Given the description of an element on the screen output the (x, y) to click on. 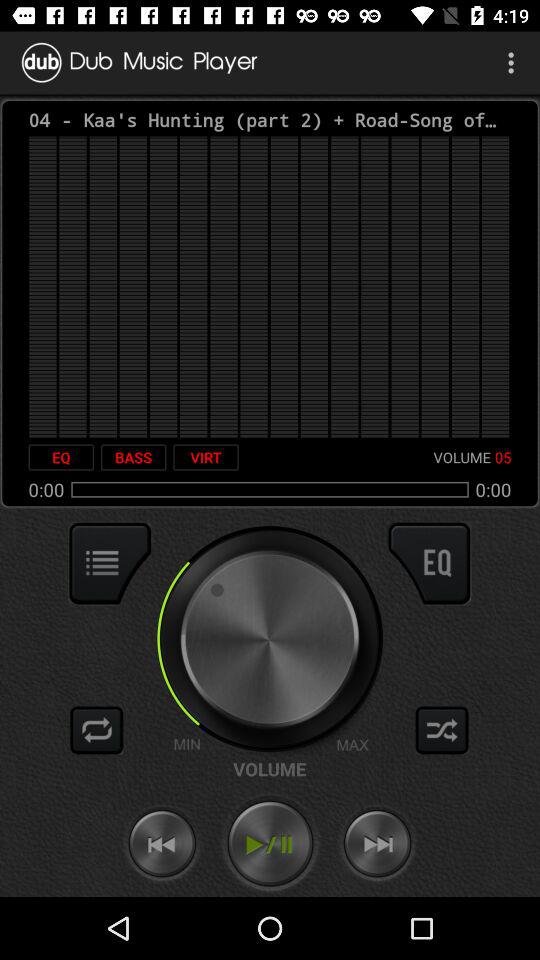
select virt (205, 457)
